Given the description of an element on the screen output the (x, y) to click on. 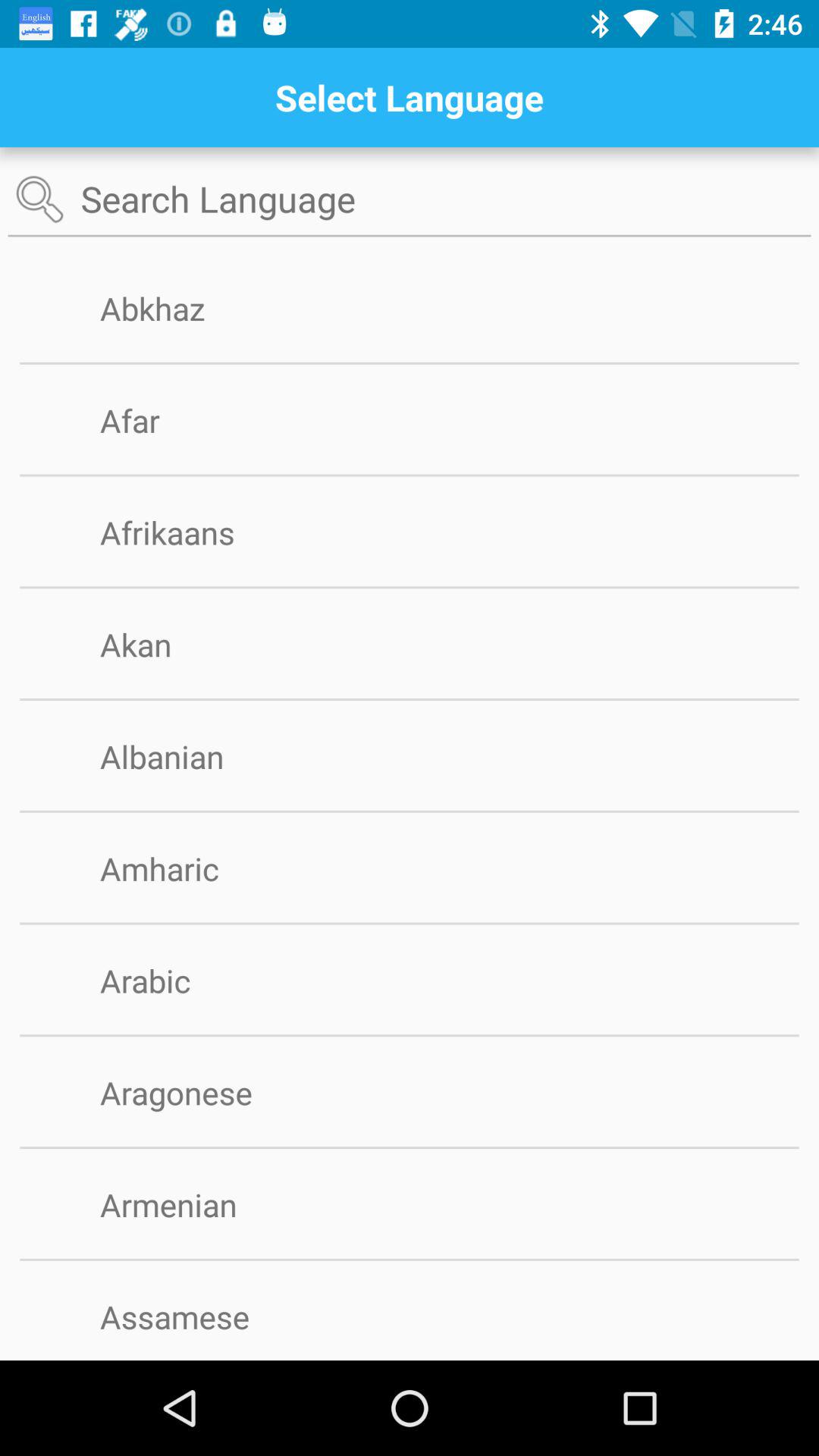
launch app above afrikaans app (409, 475)
